Given the description of an element on the screen output the (x, y) to click on. 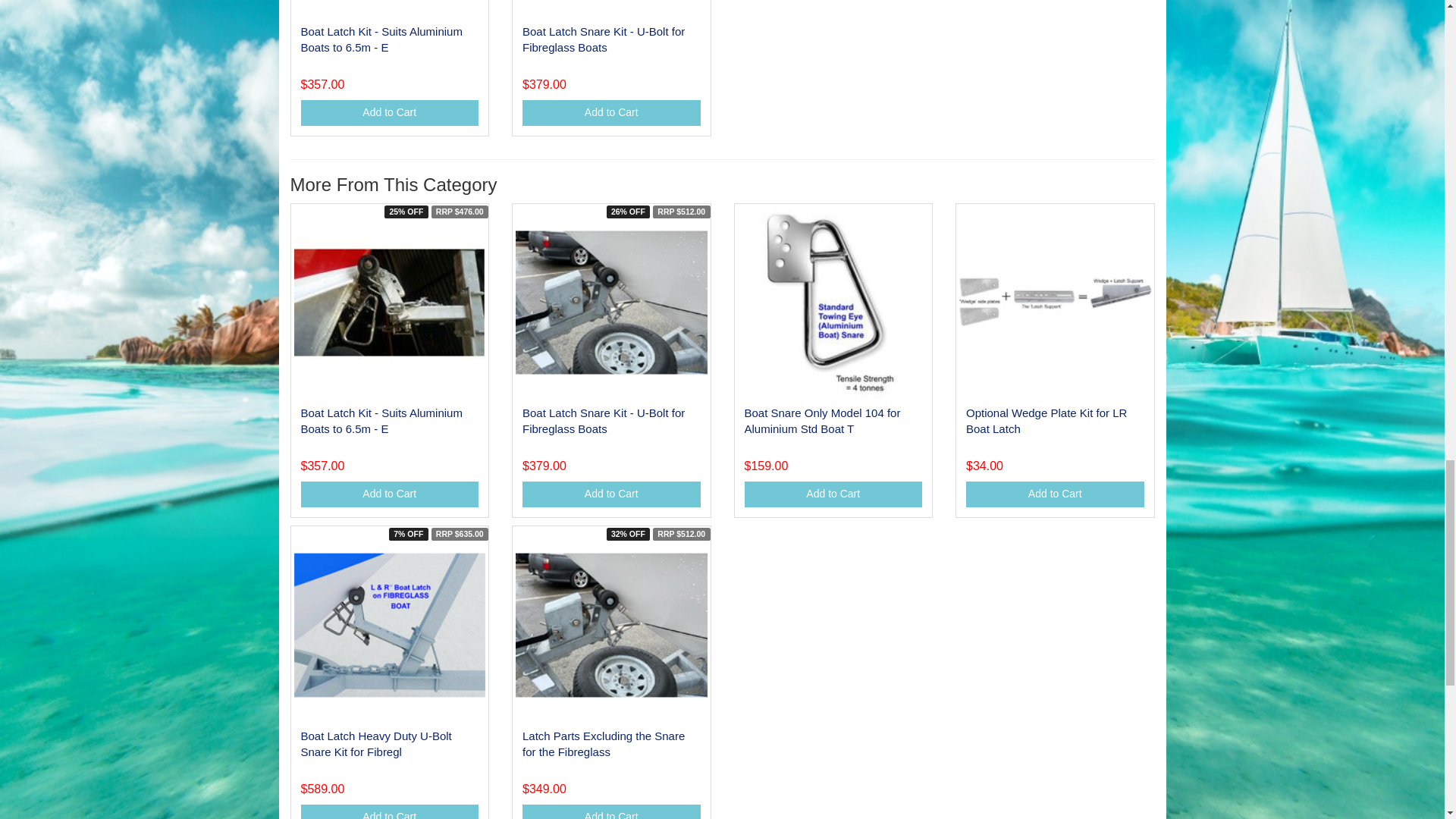
Boat Latch Kit - Suits Aluminium Boats to 6.5m - E (380, 39)
